Given the description of an element on the screen output the (x, y) to click on. 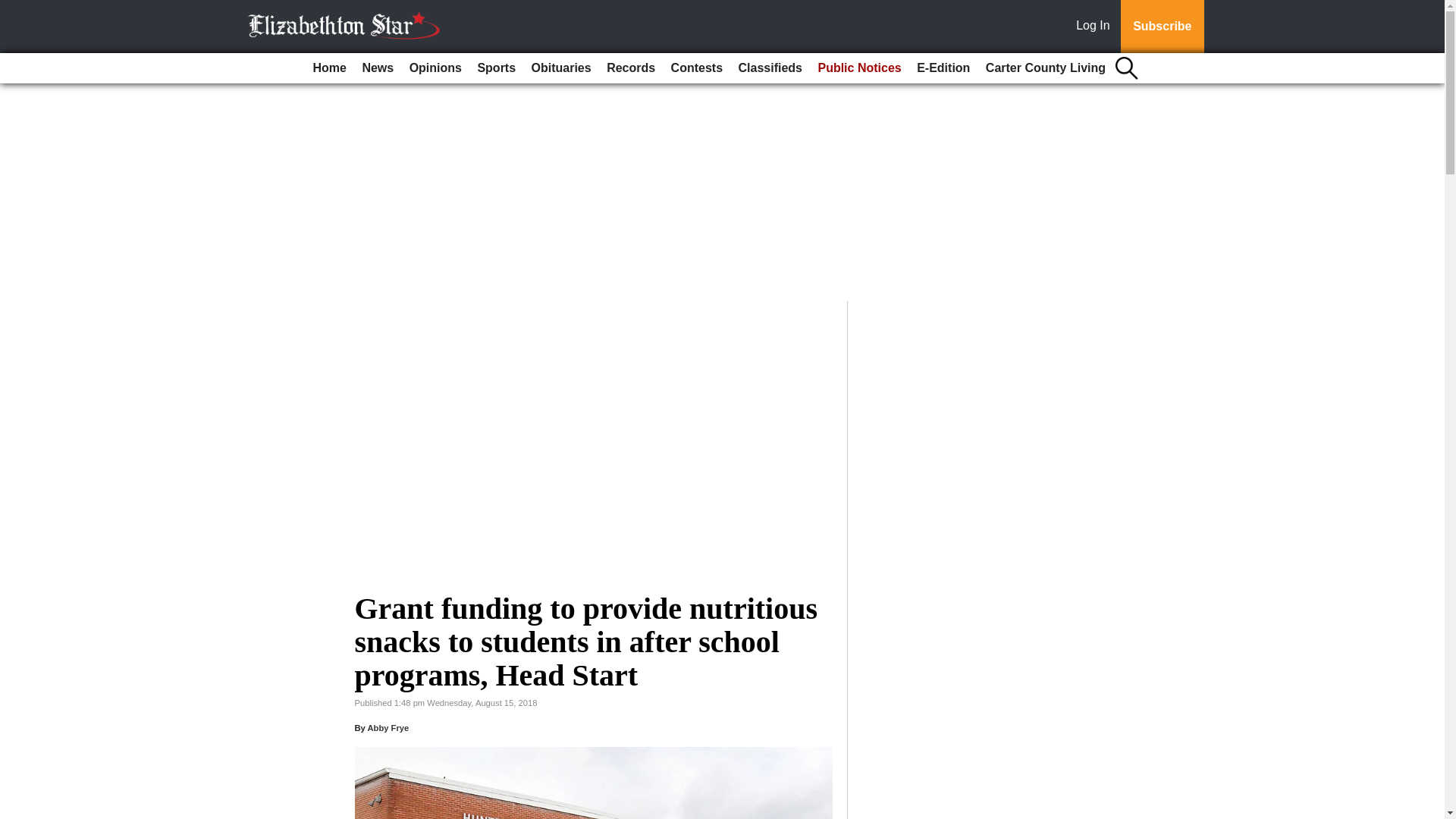
E-Edition (943, 68)
Opinions (435, 68)
Abby Frye (387, 727)
Classifieds (770, 68)
News (376, 68)
Sports (495, 68)
Contests (697, 68)
Public Notices (858, 68)
Obituaries (560, 68)
Home (328, 68)
Go (13, 9)
Log In (1095, 26)
Carter County Living (1045, 68)
Records (630, 68)
Subscribe (1162, 26)
